Given the description of an element on the screen output the (x, y) to click on. 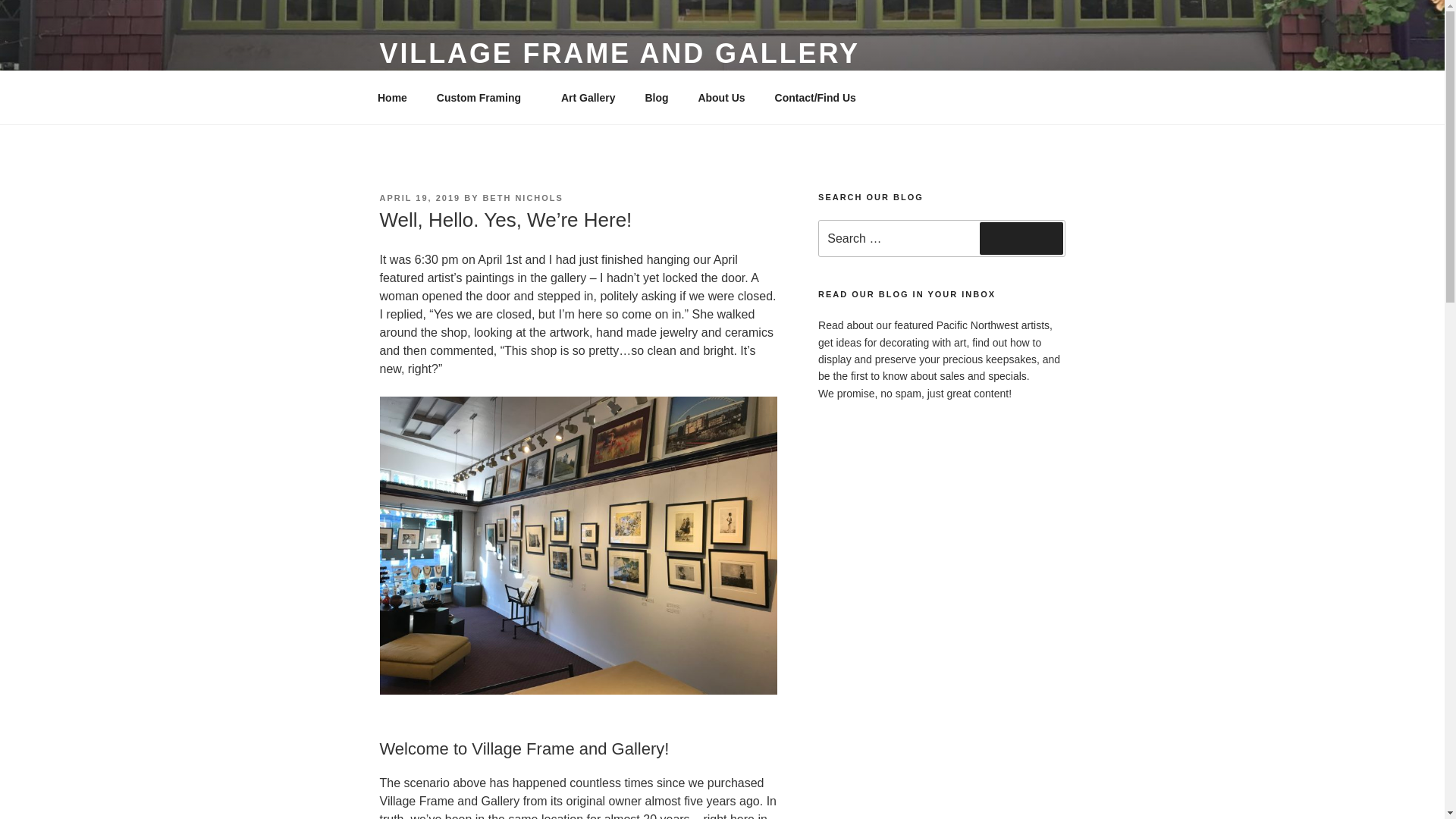
VILLAGE FRAME AND GALLERY (618, 52)
Blog (656, 97)
Search (1020, 237)
APRIL 19, 2019 (419, 197)
BETH NICHOLS (522, 197)
Custom Framing (483, 97)
About Us (721, 97)
Home (392, 97)
Art Gallery (587, 97)
